Given the description of an element on the screen output the (x, y) to click on. 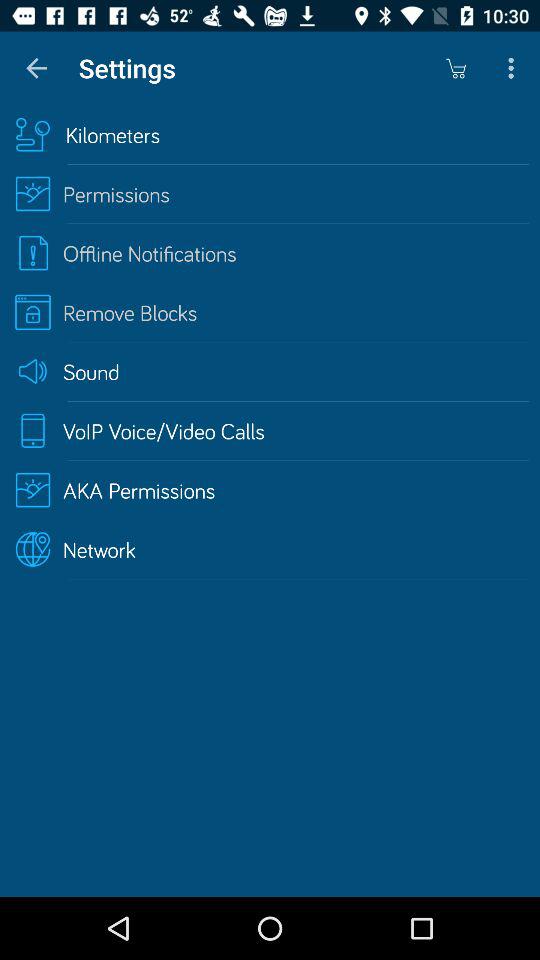
launch app next to settings (36, 68)
